Given the description of an element on the screen output the (x, y) to click on. 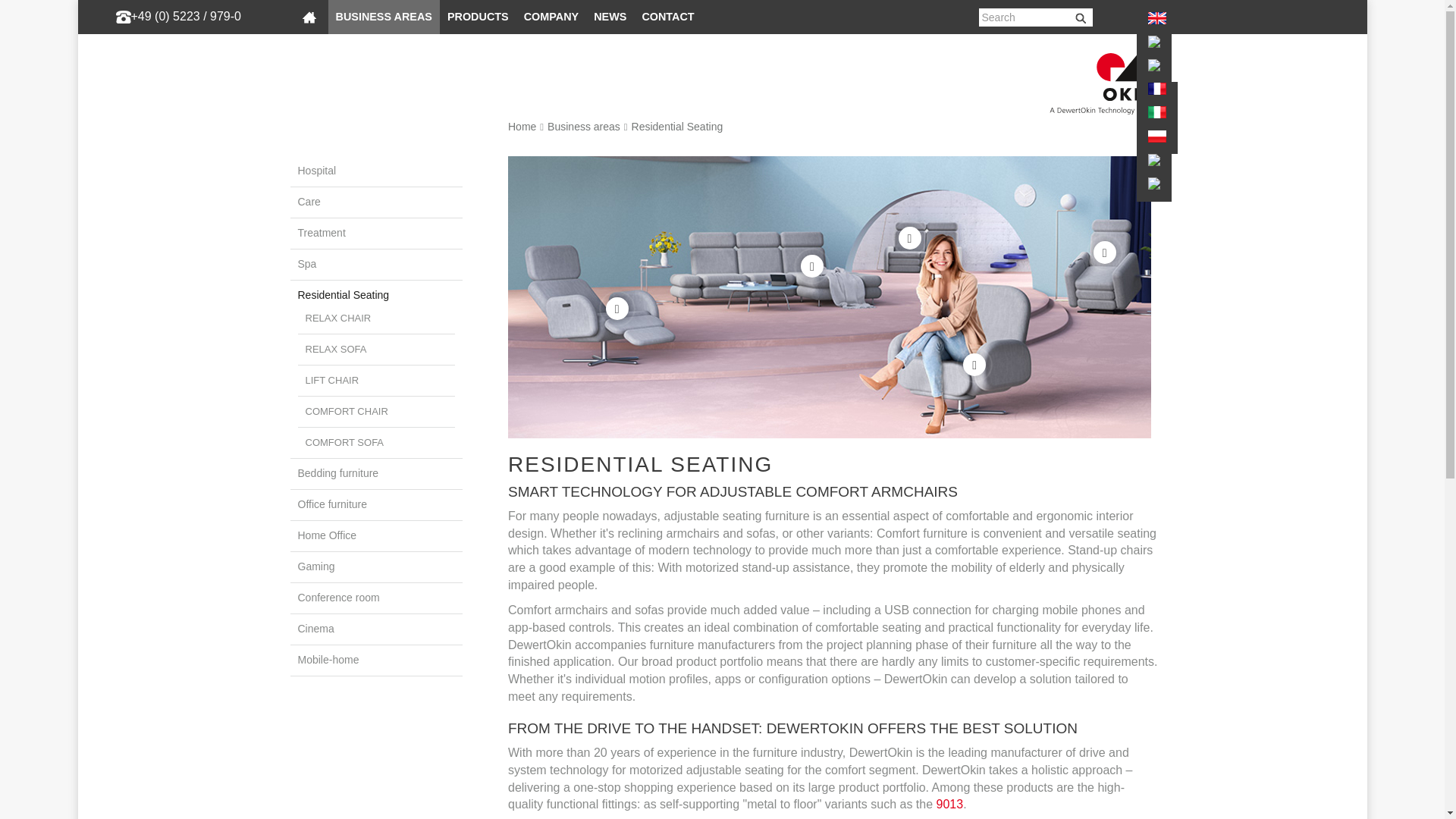
Home (308, 17)
Relax Sofa (335, 348)
Contact (667, 17)
Comfort sofa (344, 441)
Drive systems from DewertOkin (477, 17)
Business areas (583, 126)
COMPANY (551, 17)
PRODUCTS (477, 17)
Your partner for powerful drive technology (551, 17)
Business areas (383, 17)
Lift chair (331, 379)
BUSINESS AREAS (383, 17)
Relax chair (337, 317)
NEWS (609, 17)
